Given the description of an element on the screen output the (x, y) to click on. 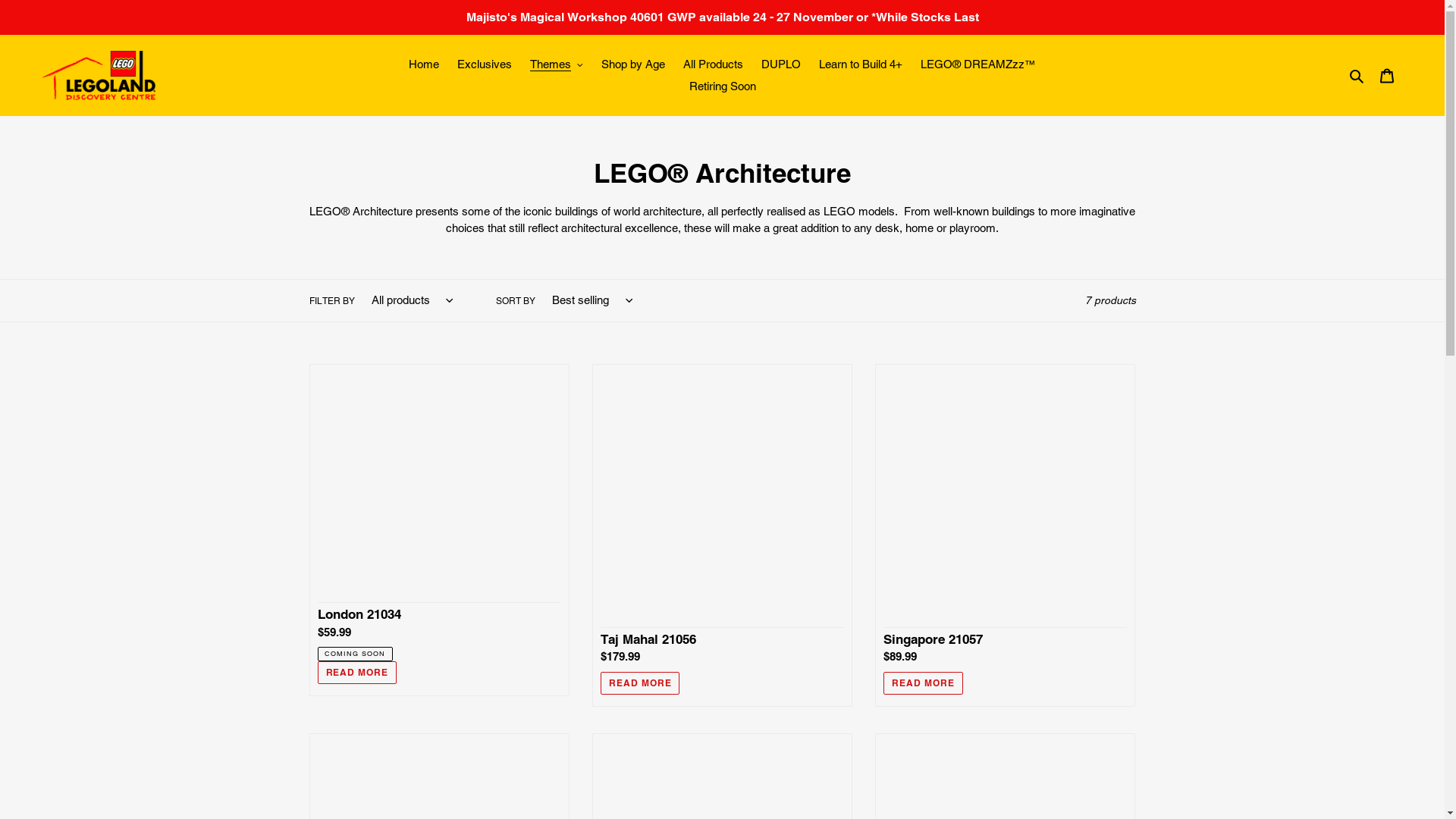
Search Element type: text (1357, 74)
Cart Element type: text (1386, 75)
Learn to Build 4+ Element type: text (860, 64)
Home Element type: text (423, 64)
Retiring Soon Element type: text (721, 86)
London 21034 Element type: text (438, 529)
All Products Element type: text (712, 64)
Taj Mahal 21056 Element type: text (722, 534)
READ MORE Element type: text (923, 682)
DUPLO Element type: text (780, 64)
READ MORE Element type: text (356, 672)
Themes Element type: text (556, 64)
Exclusives Element type: text (484, 64)
READ MORE Element type: text (640, 682)
Singapore 21057 Element type: text (1004, 534)
Shop by Age Element type: text (632, 64)
